Given the description of an element on the screen output the (x, y) to click on. 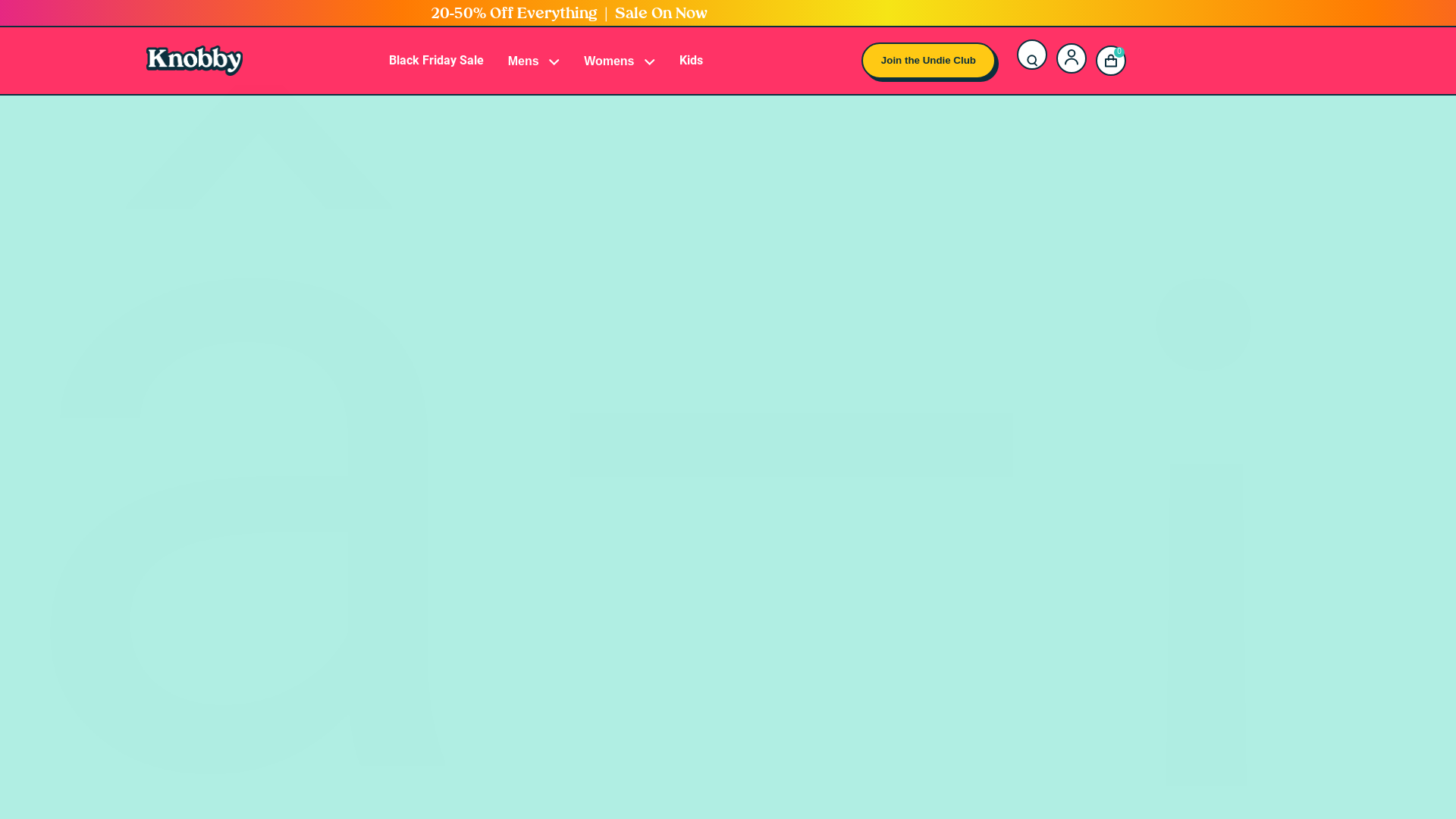
Legal Element type: text (539, 426)
the shop Element type: text (879, 536)
0 Element type: text (1110, 60)
Join the Undie Club Element type: text (928, 60)
Womens Element type: text (619, 59)
Loyalty Program Element type: text (539, 274)
Contact Us Element type: text (539, 378)
Kids Element type: text (691, 59)
Blog Element type: text (539, 298)
20-50% Off Everything  |  Sale On Now Element type: text (568, 14)
Sitemap Element type: text (539, 475)
Shipping Element type: text (539, 402)
FAQ Element type: text (539, 451)
home page Element type: text (739, 536)
Black Friday Sale Element type: text (435, 59)
Mens Element type: text (533, 59)
The Story Element type: text (539, 225)
Size Guide Element type: text (539, 354)
Ambassadors Element type: text (539, 250)
